Given the description of an element on the screen output the (x, y) to click on. 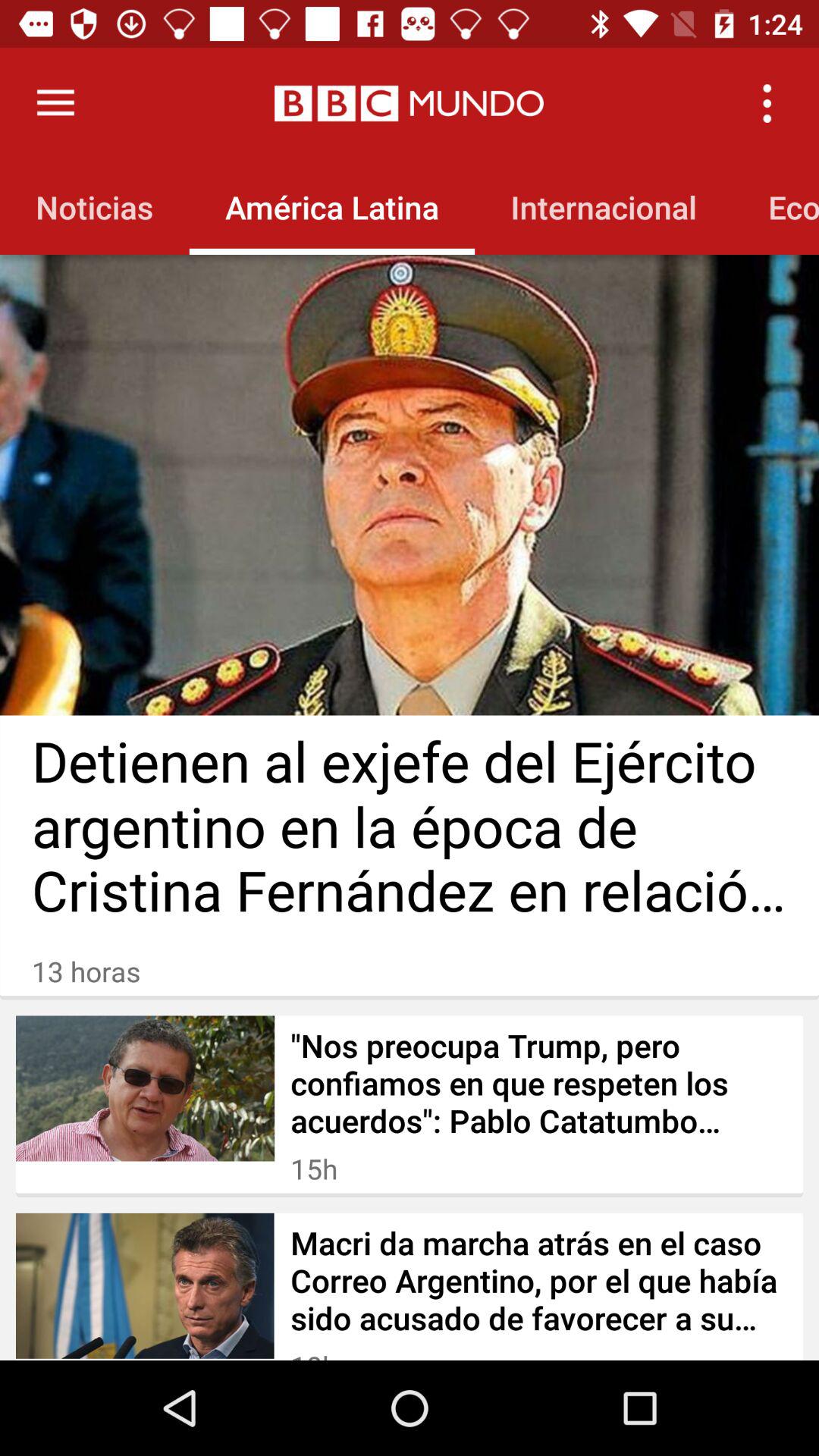
open the item above noticias item (55, 103)
